Given the description of an element on the screen output the (x, y) to click on. 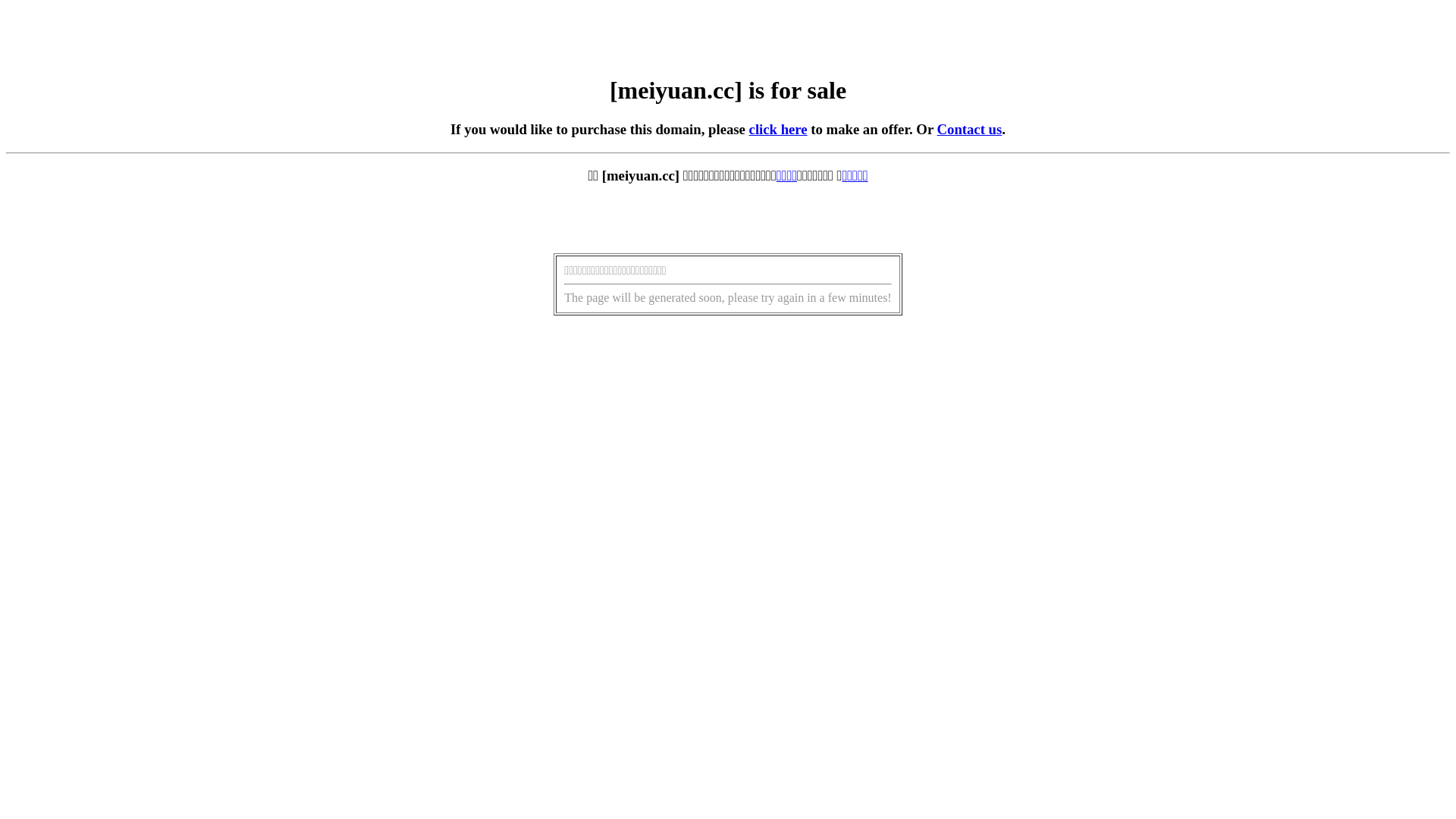
click here Element type: text (778, 129)
Contact us Element type: text (969, 129)
